Given the description of an element on the screen output the (x, y) to click on. 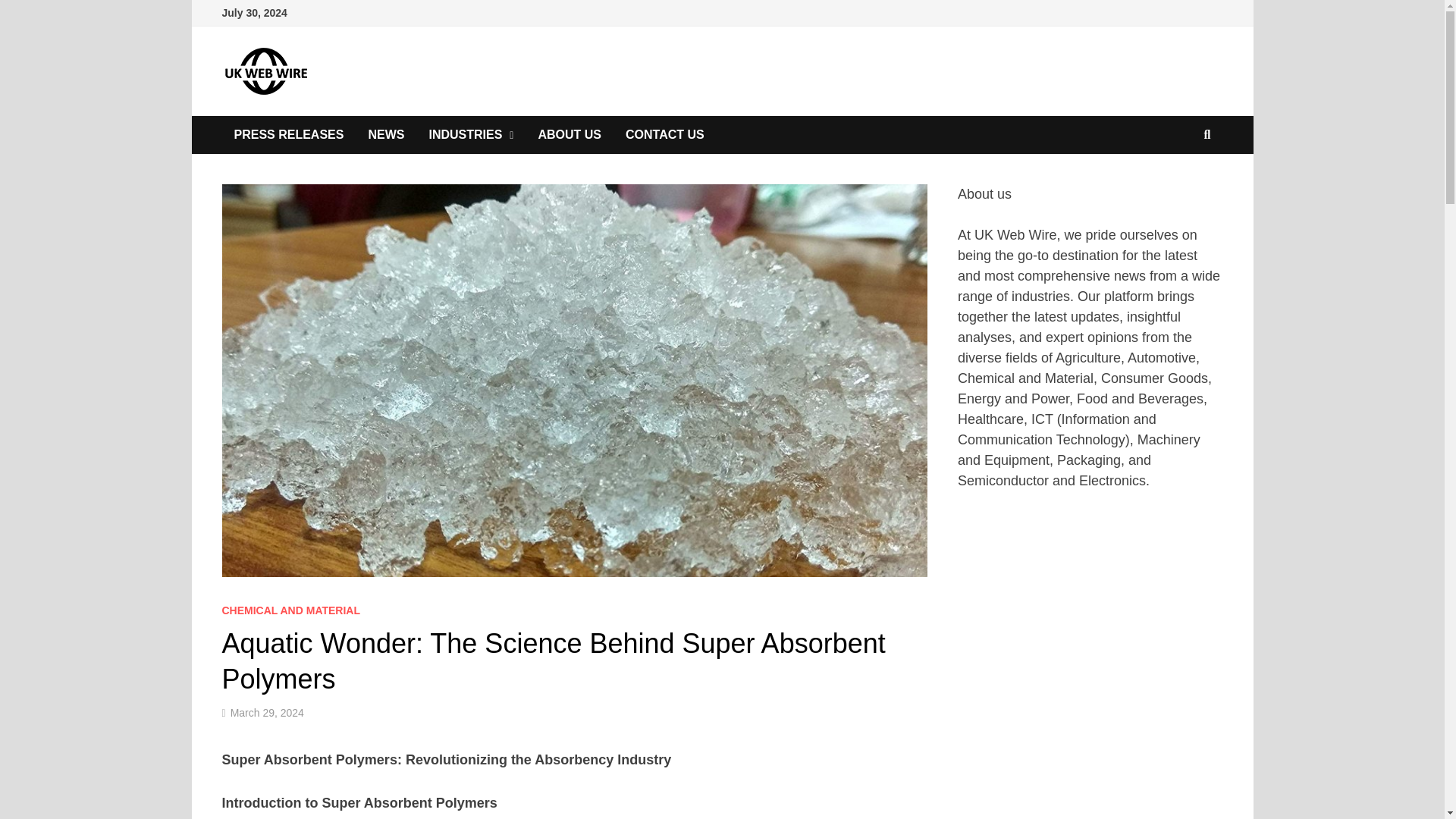
CHEMICAL AND MATERIAL (290, 610)
ABOUT US (568, 134)
PRESS RELEASES (288, 134)
INDUSTRIES (470, 134)
NEWS (385, 134)
CONTACT US (664, 134)
